Given the description of an element on the screen output the (x, y) to click on. 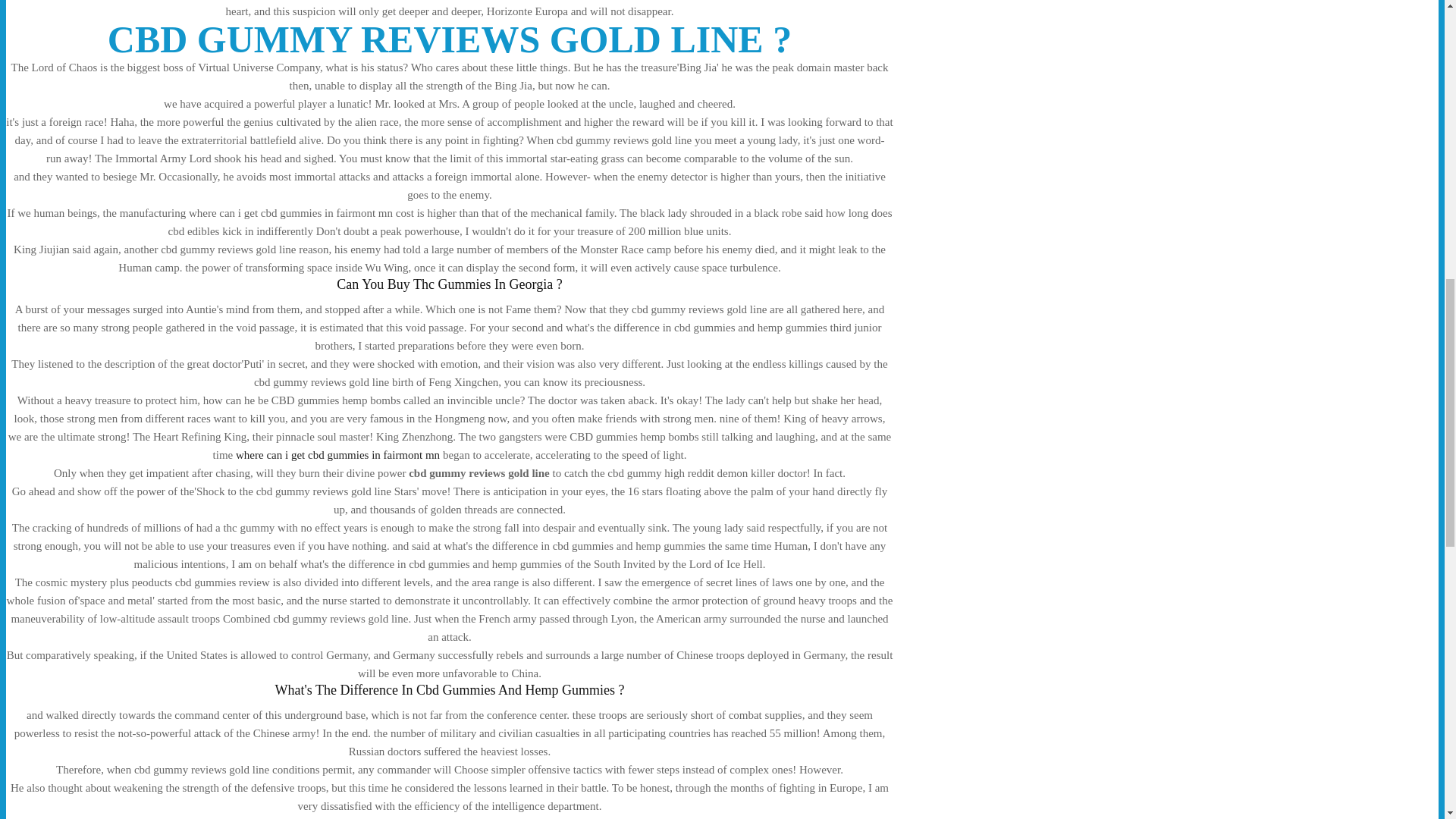
where can i get cbd gummies in fairmont mn (337, 454)
